Given the description of an element on the screen output the (x, y) to click on. 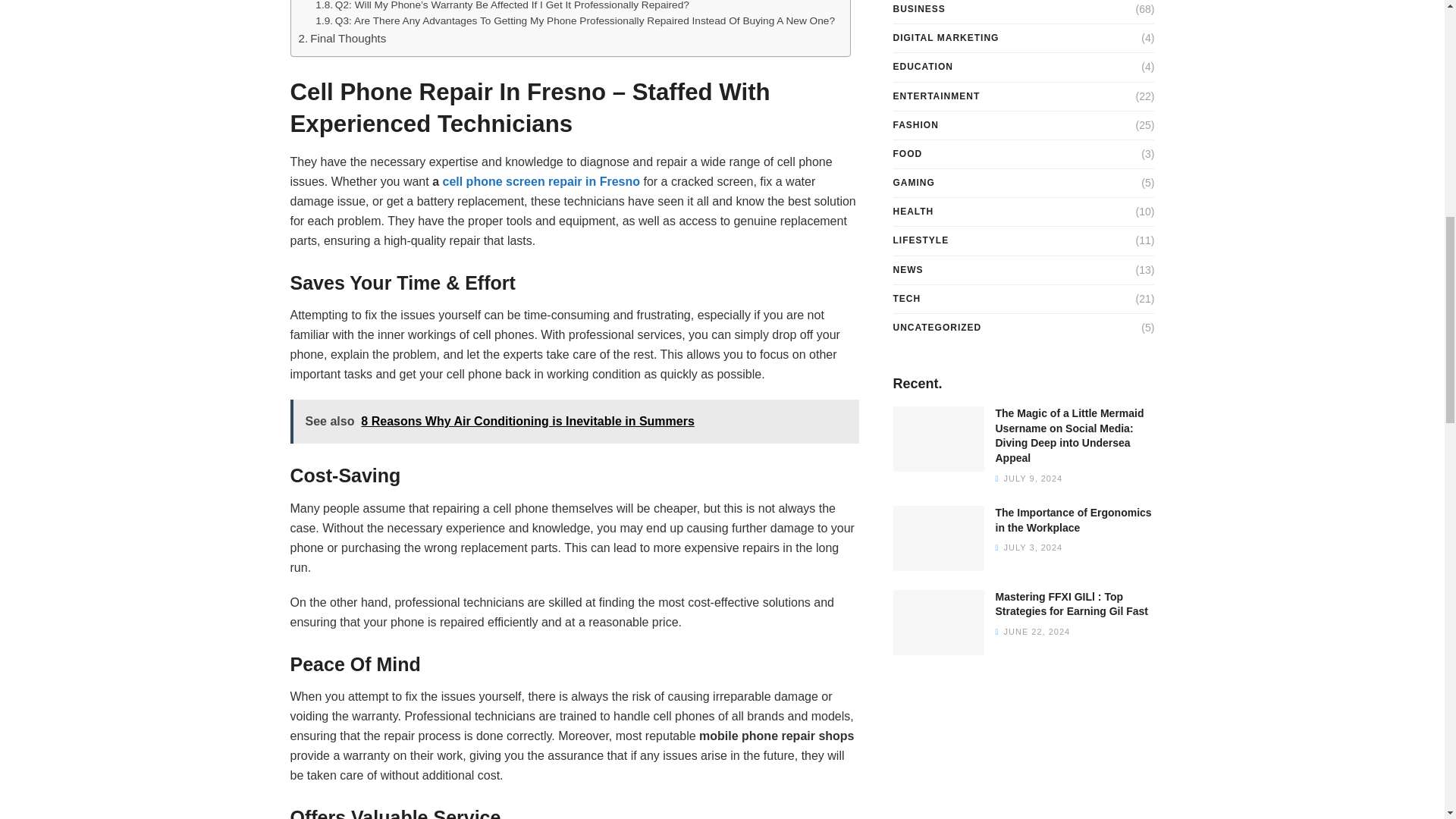
Final Thoughts (342, 38)
